Given the description of an element on the screen output the (x, y) to click on. 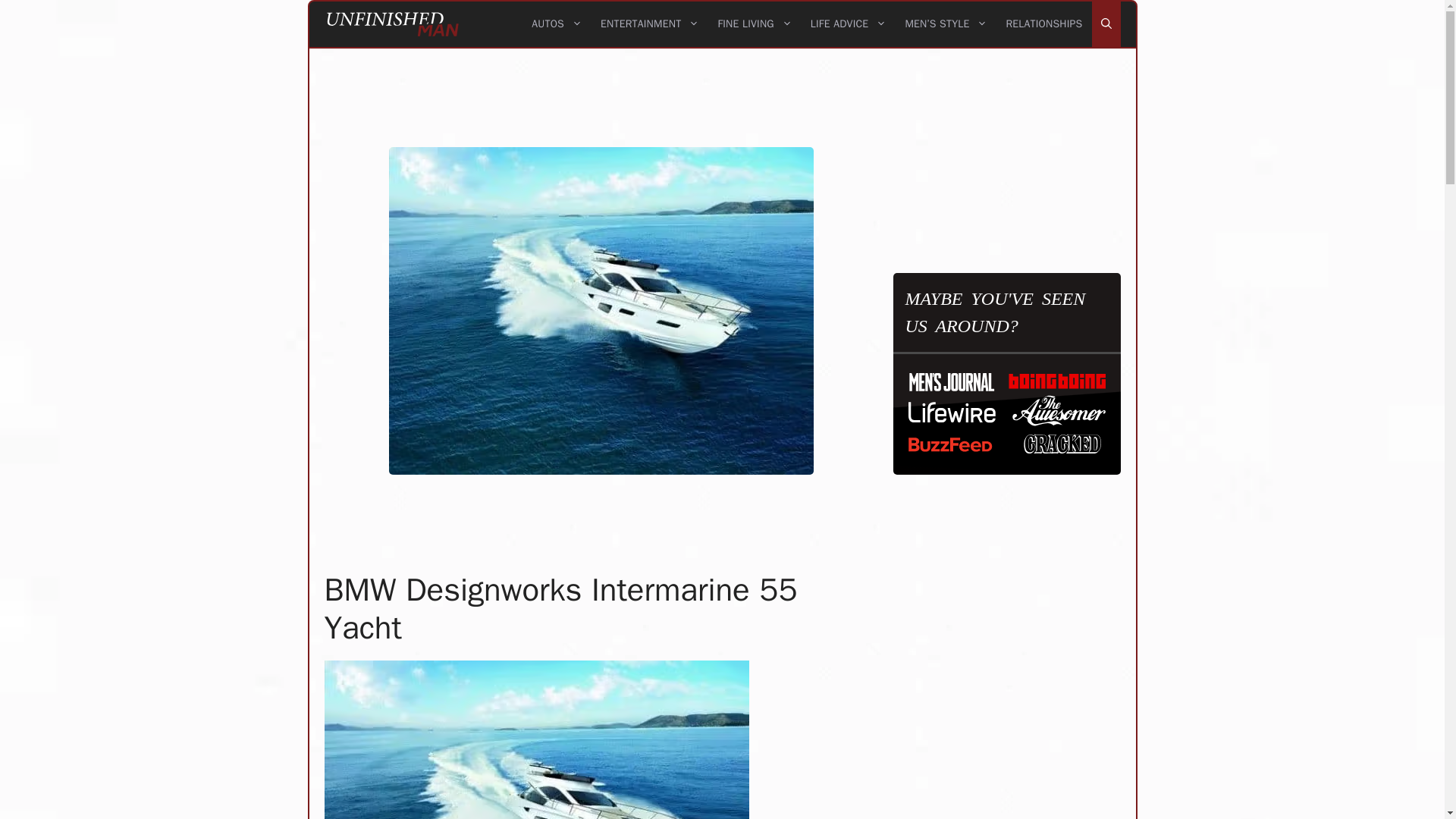
Unfinished Man (392, 23)
Intermarine-55-BMW-Designworks-USA-1 (536, 739)
ENTERTAINMENT (649, 23)
AUTOS (556, 23)
